Given the description of an element on the screen output the (x, y) to click on. 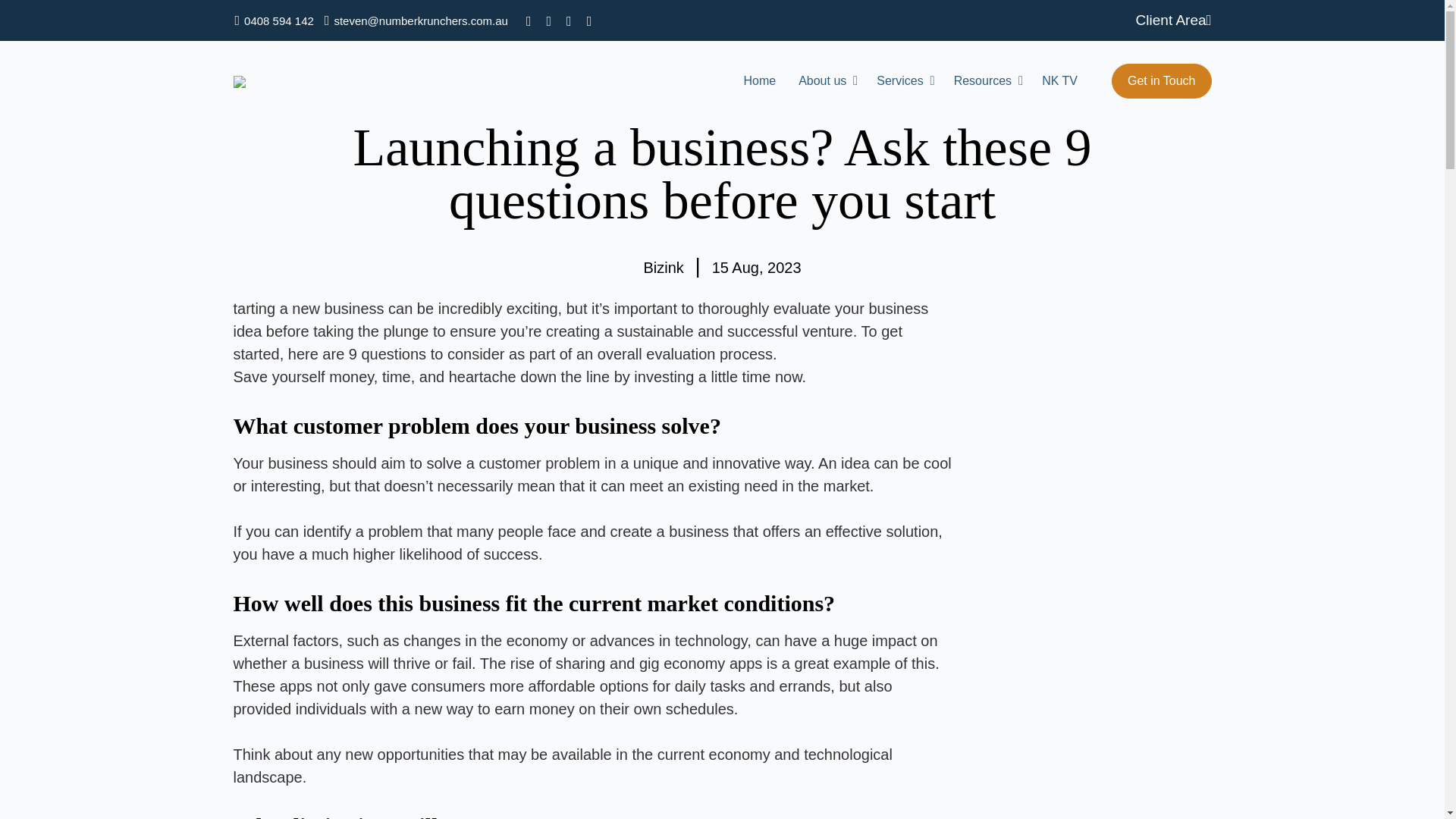
Resources (982, 80)
NK TV (1059, 80)
Home (758, 80)
About us (822, 80)
About us (822, 80)
Get in Touch (1161, 80)
Home (758, 80)
Services (899, 80)
Resources (982, 80)
Services (899, 80)
0408 594 142 (273, 20)
